Given the description of an element on the screen output the (x, y) to click on. 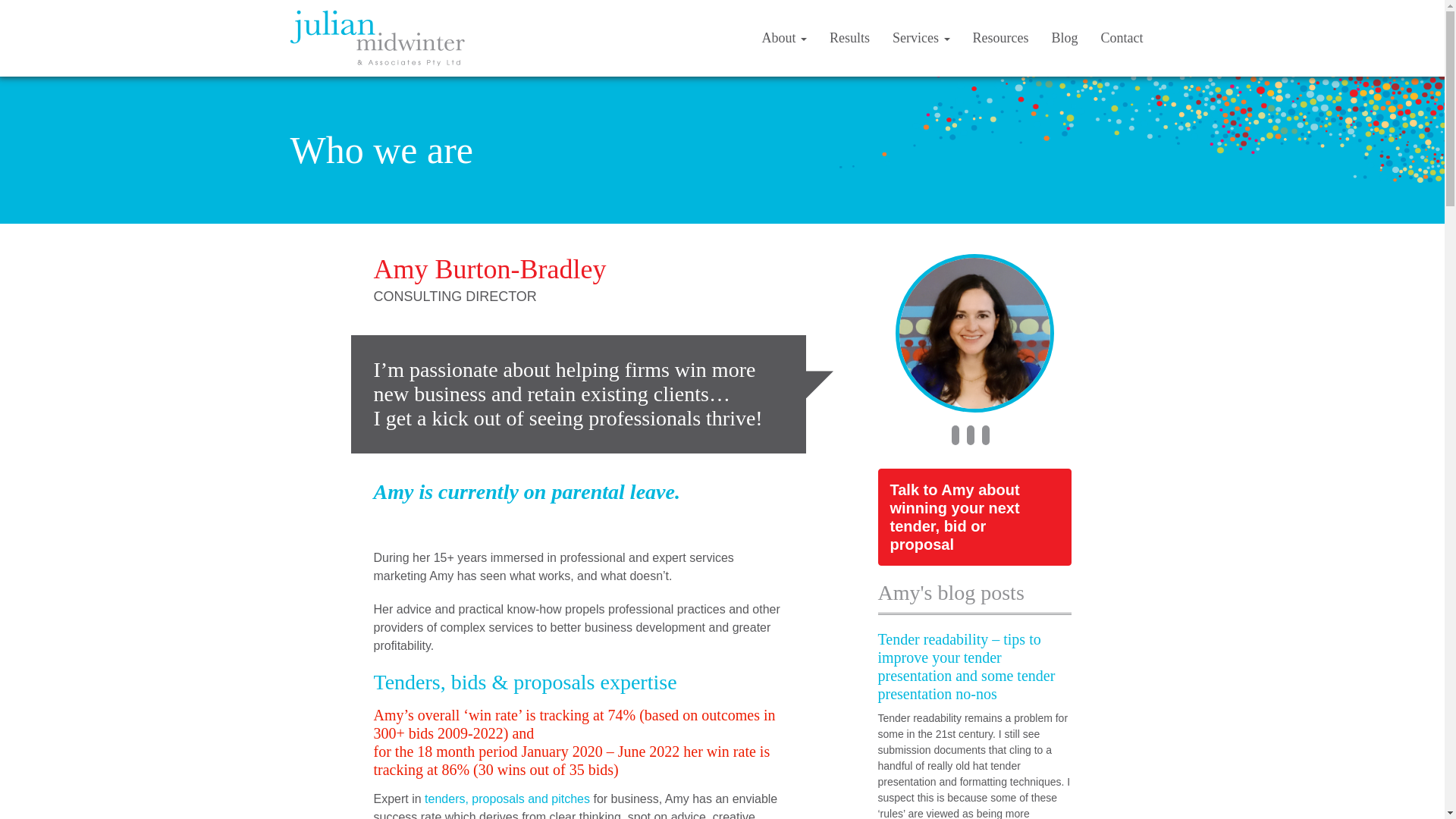
Talk to Amy about winning your next tender, bid or proposal Element type: text (974, 516)
Contact Element type: text (1121, 37)
About Element type: text (784, 37)
tenders, proposals and pitches Element type: text (506, 798)
Resources Element type: text (1000, 37)
Results Element type: text (849, 37)
Services Element type: text (920, 37)
Blog Element type: text (1063, 37)
